Given the description of an element on the screen output the (x, y) to click on. 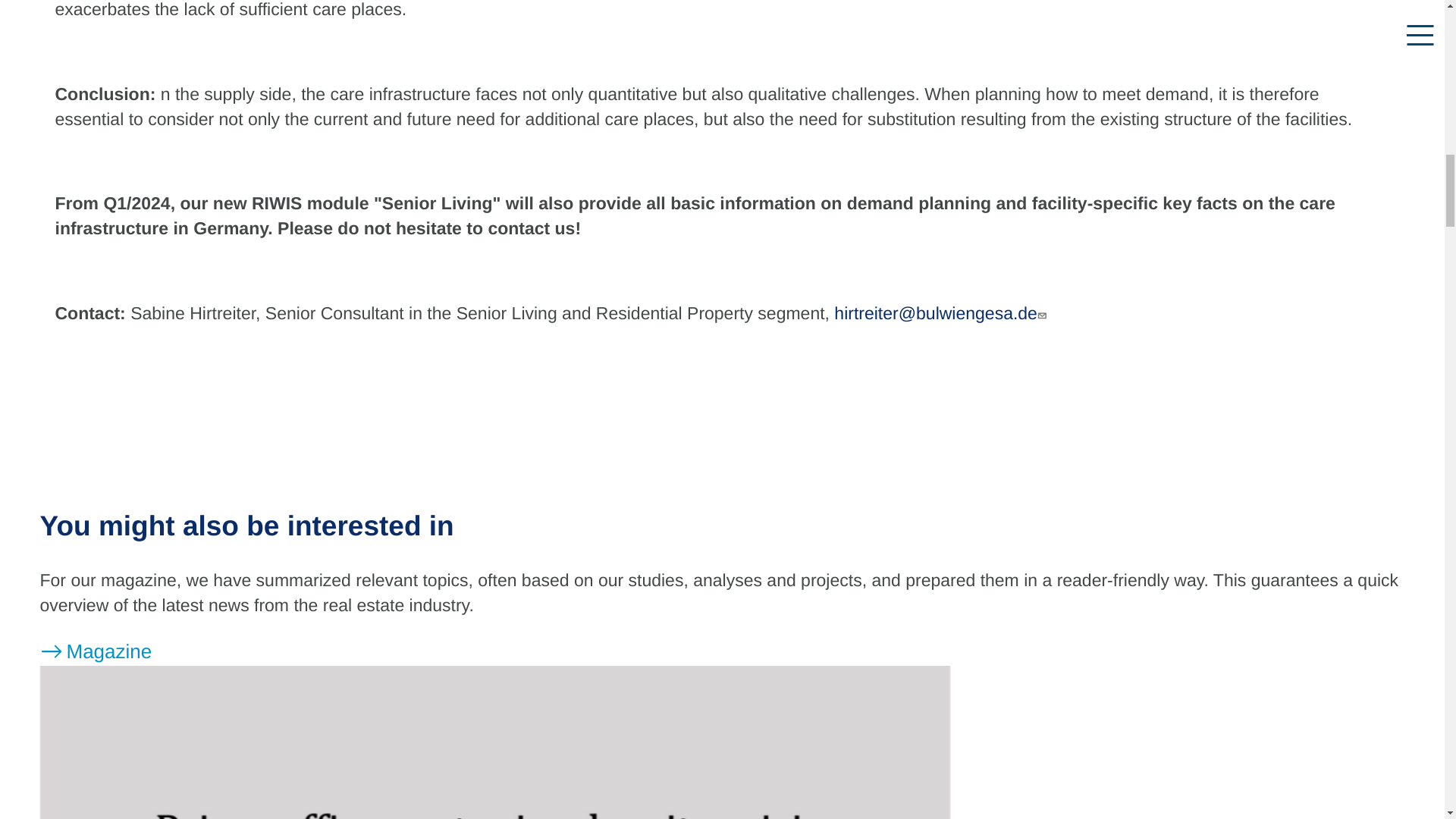
Magazine (95, 650)
